Given the description of an element on the screen output the (x, y) to click on. 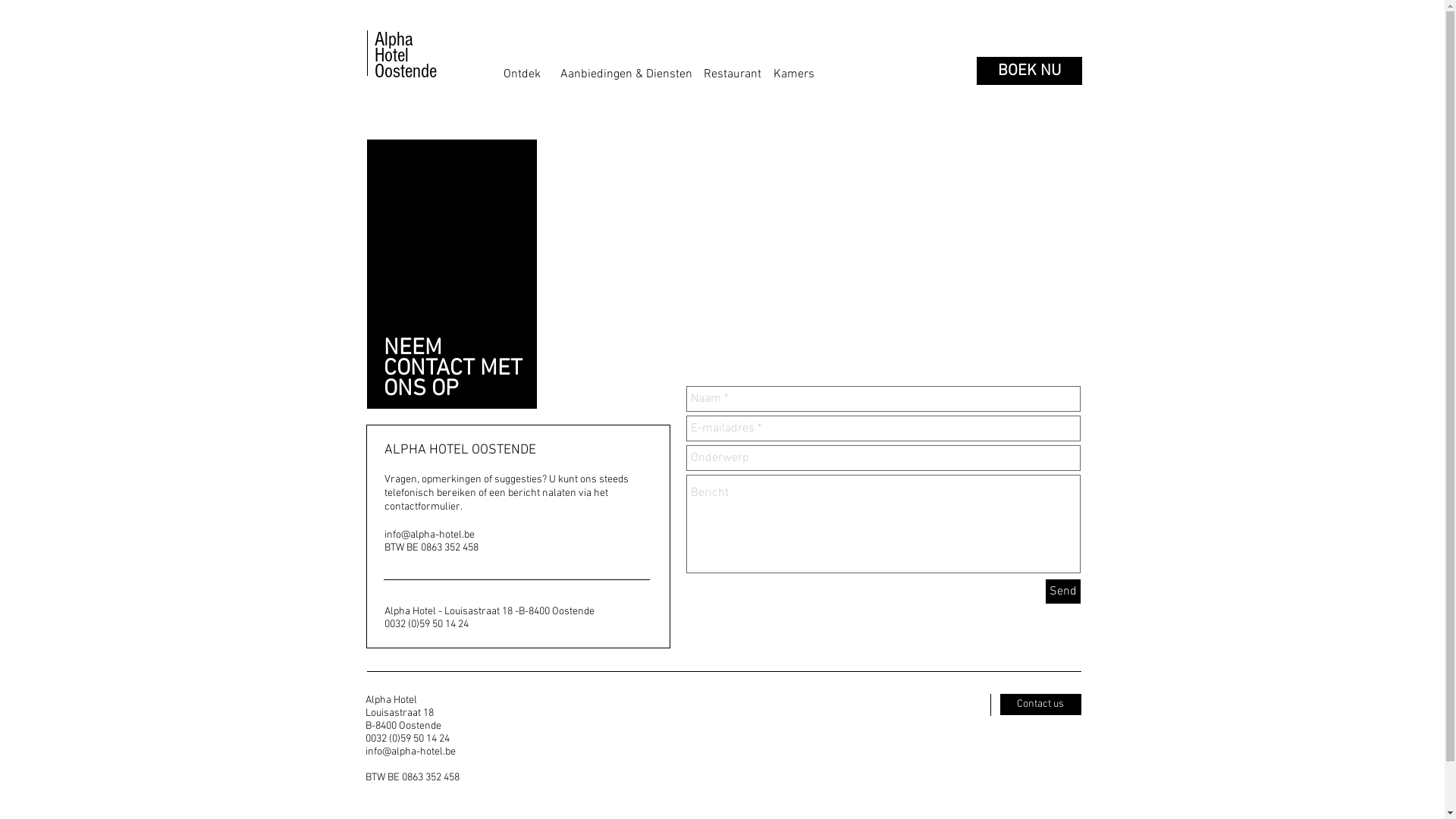
Contact us Element type: text (1039, 704)
BOEK NU Element type: text (1029, 70)
Send Element type: text (1061, 591)
Kamers Element type: text (793, 74)
Google Maps Element type: hover (815, 254)
Aanbiedingen & Diensten Element type: text (625, 74)
Restaurant Element type: text (732, 74)
Alpha Hotel Oostende Element type: text (405, 55)
info@alpha-hotel.be Element type: text (410, 751)
info@alpha-hotel.be Element type: text (428, 534)
Ontdek Element type: text (521, 74)
